Given the description of an element on the screen output the (x, y) to click on. 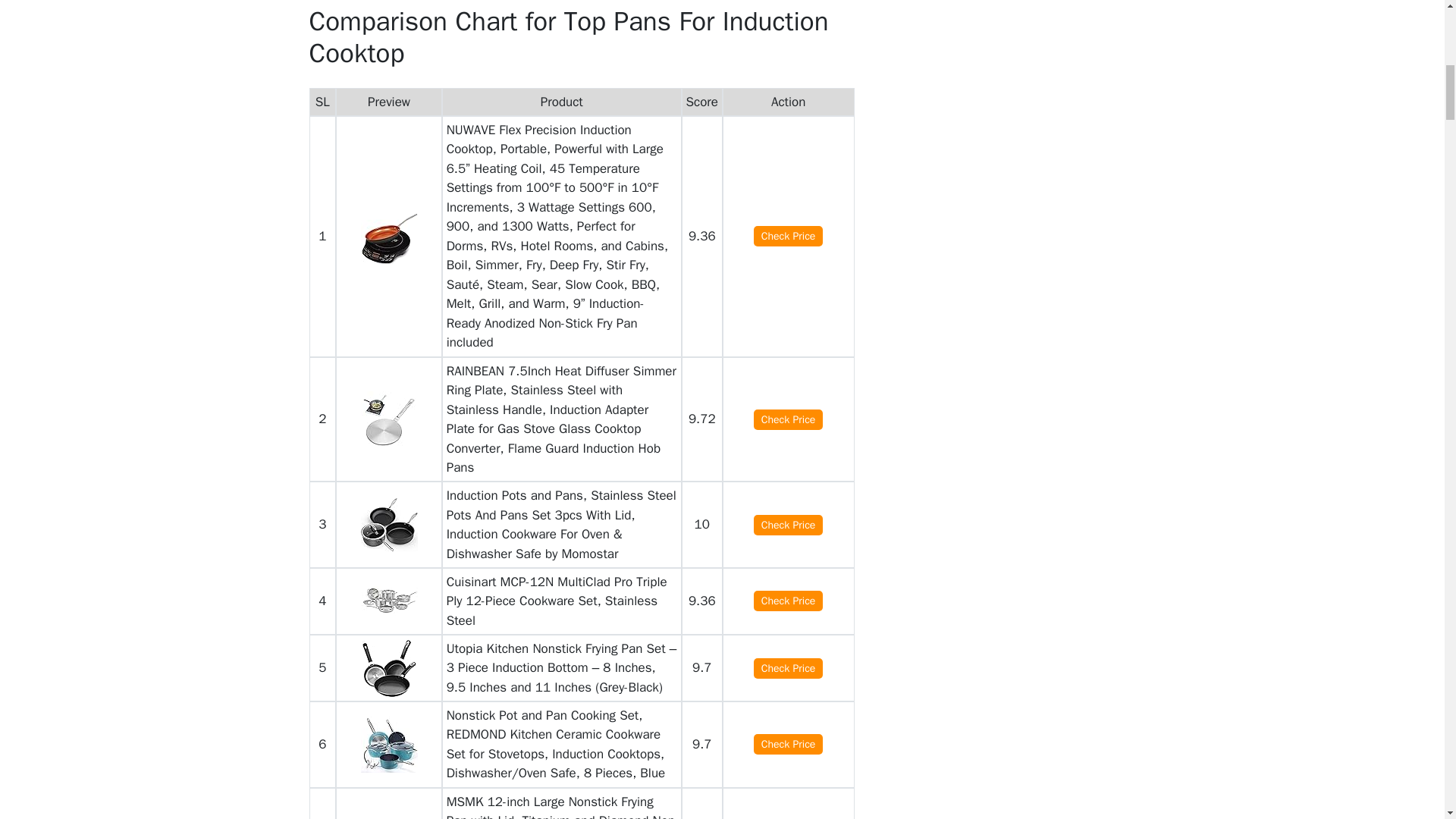
Check Price (789, 668)
Check Price (789, 525)
Check Price (789, 419)
Check Price (789, 236)
Check Price (789, 600)
Check Price (789, 743)
